Given the description of an element on the screen output the (x, y) to click on. 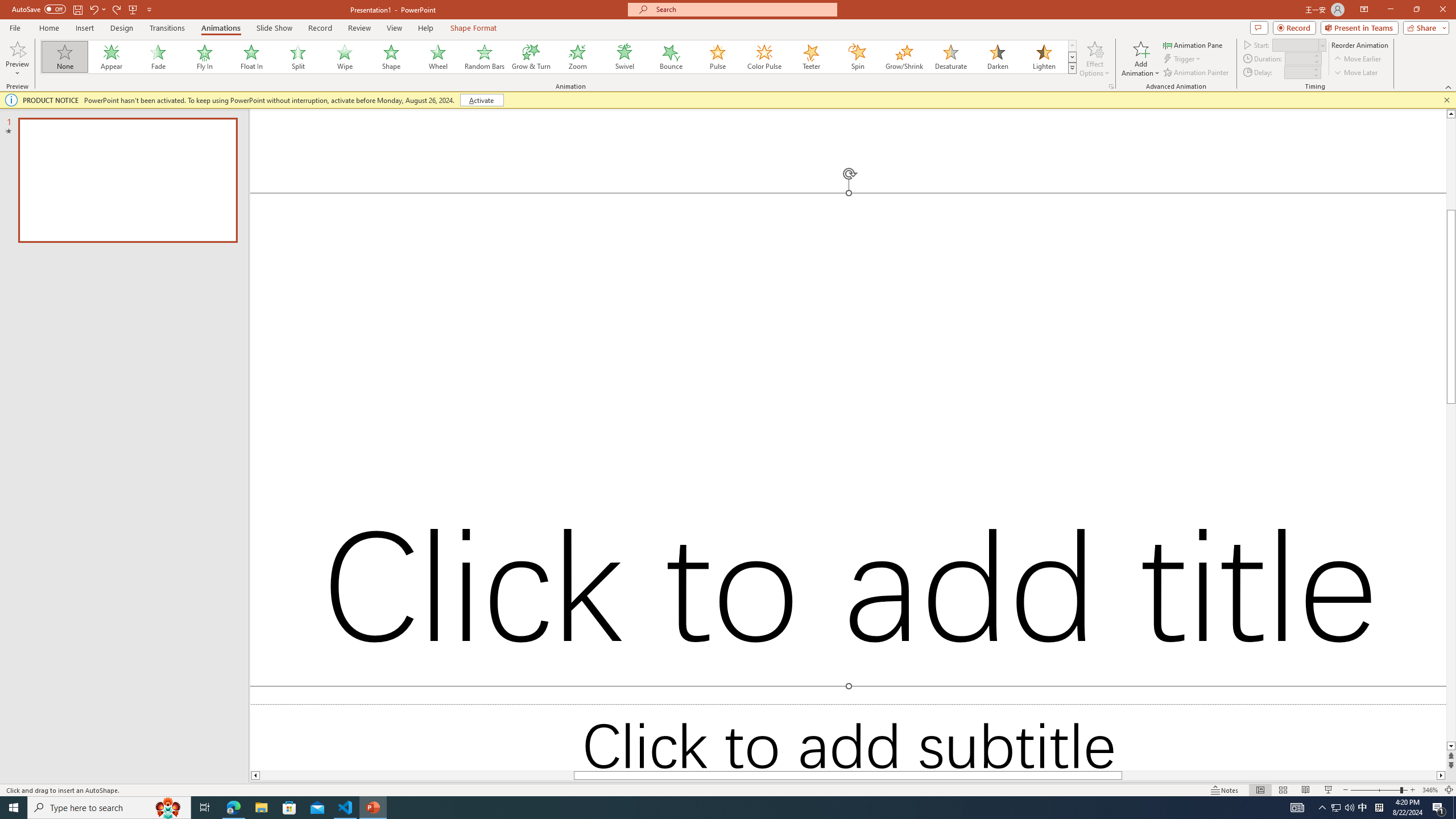
More Options... (1110, 85)
Fly In (205, 56)
Random Bars (484, 56)
Split (298, 56)
Teeter (810, 56)
Move Later (1355, 72)
